Given the description of an element on the screen output the (x, y) to click on. 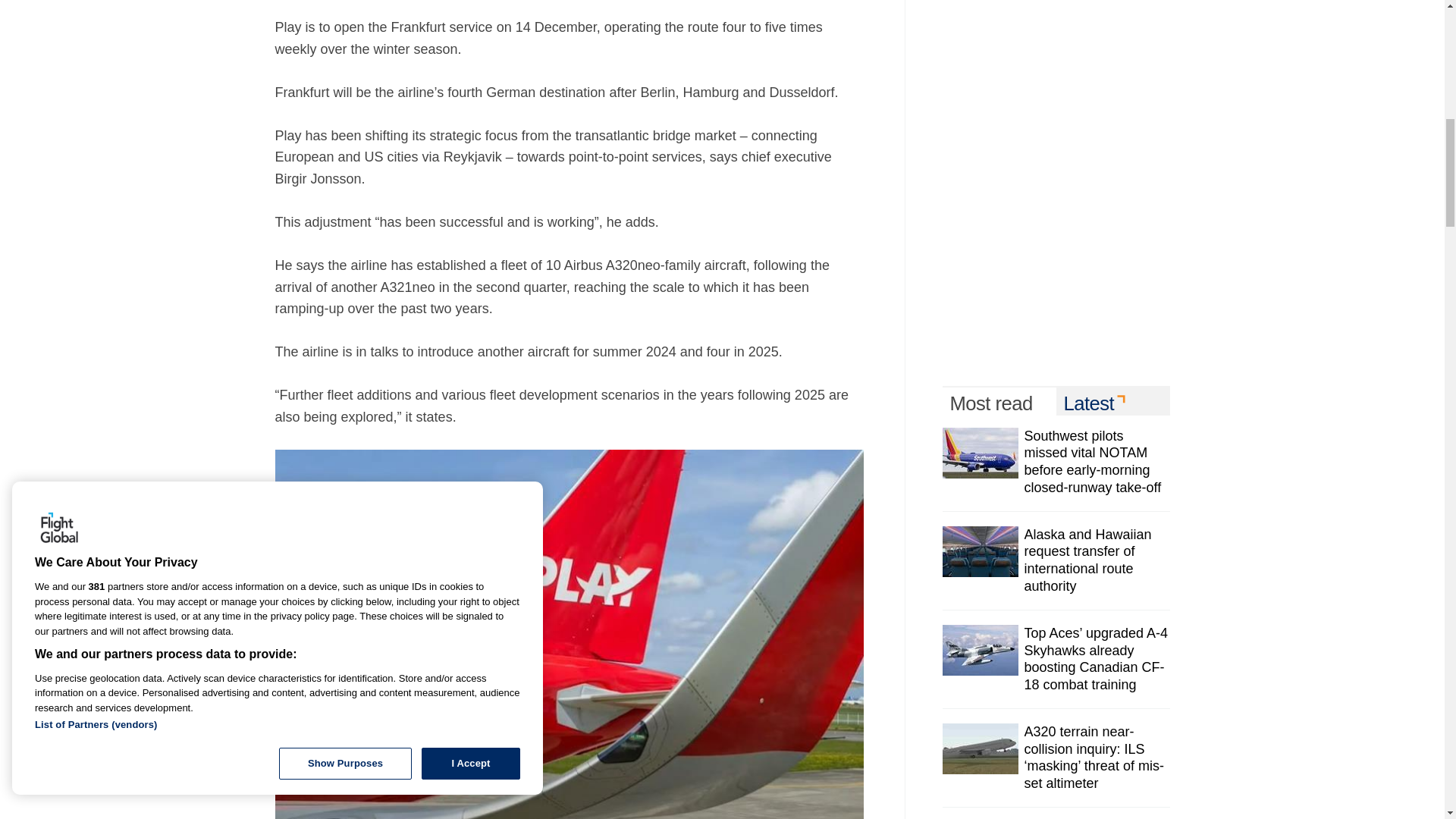
3rd party ad content (1055, 174)
